Given the description of an element on the screen output the (x, y) to click on. 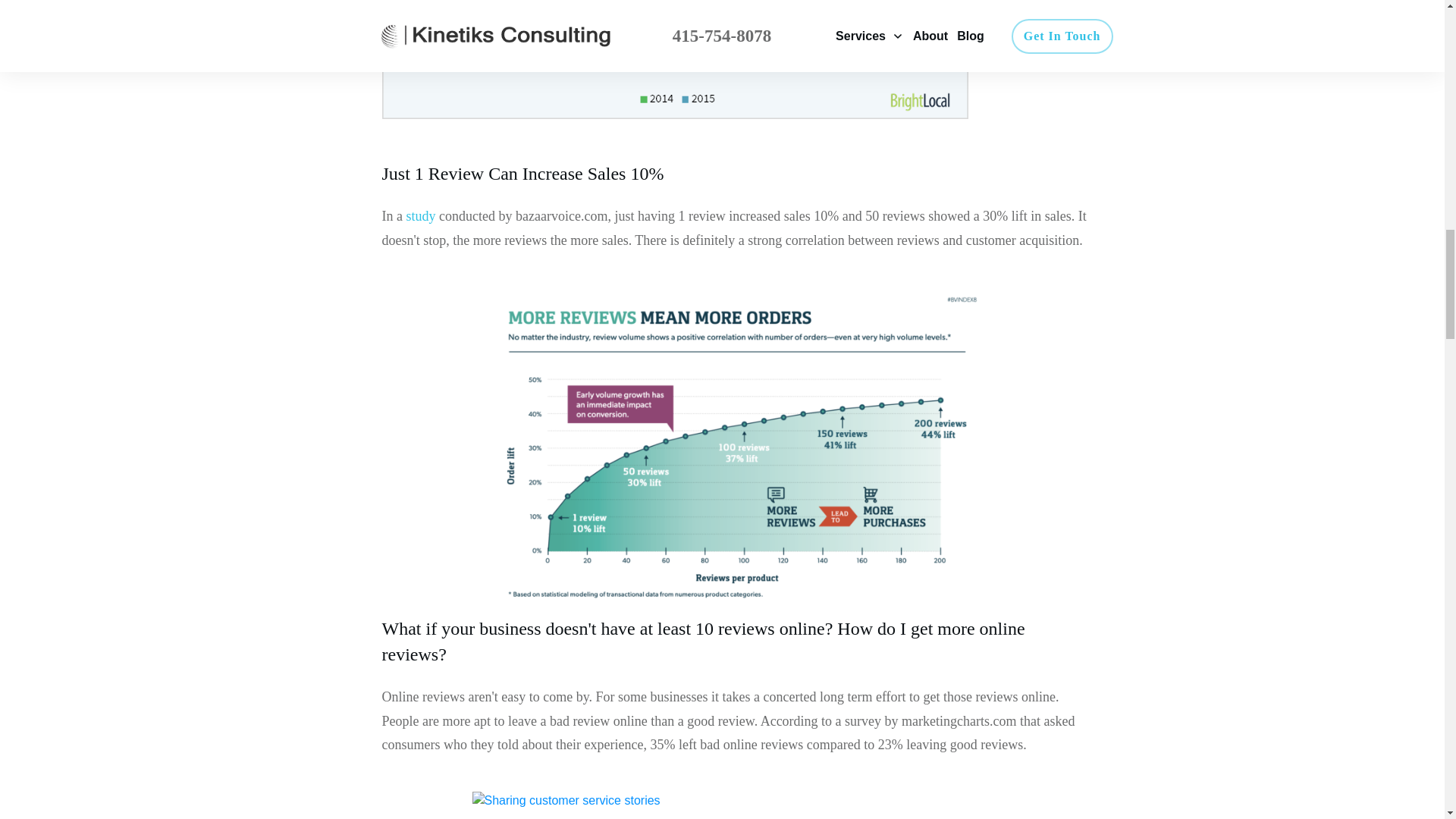
study (420, 215)
Sharin customer service stories (737, 805)
